Given the description of an element on the screen output the (x, y) to click on. 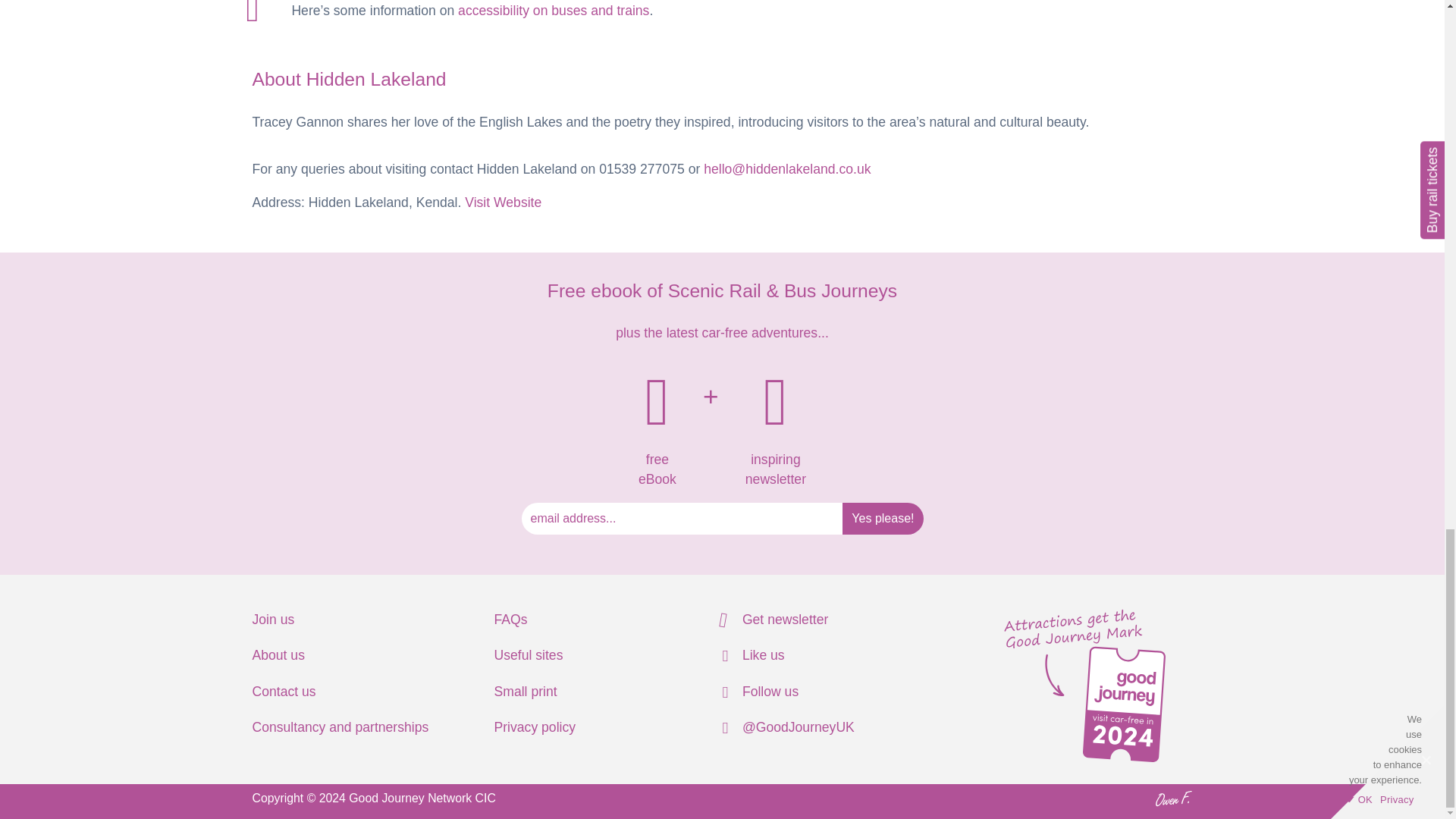
Check out Owen's other stuff (1173, 799)
Hidden Lakeland Website (502, 202)
Yes please! (883, 518)
